Given the description of an element on the screen output the (x, y) to click on. 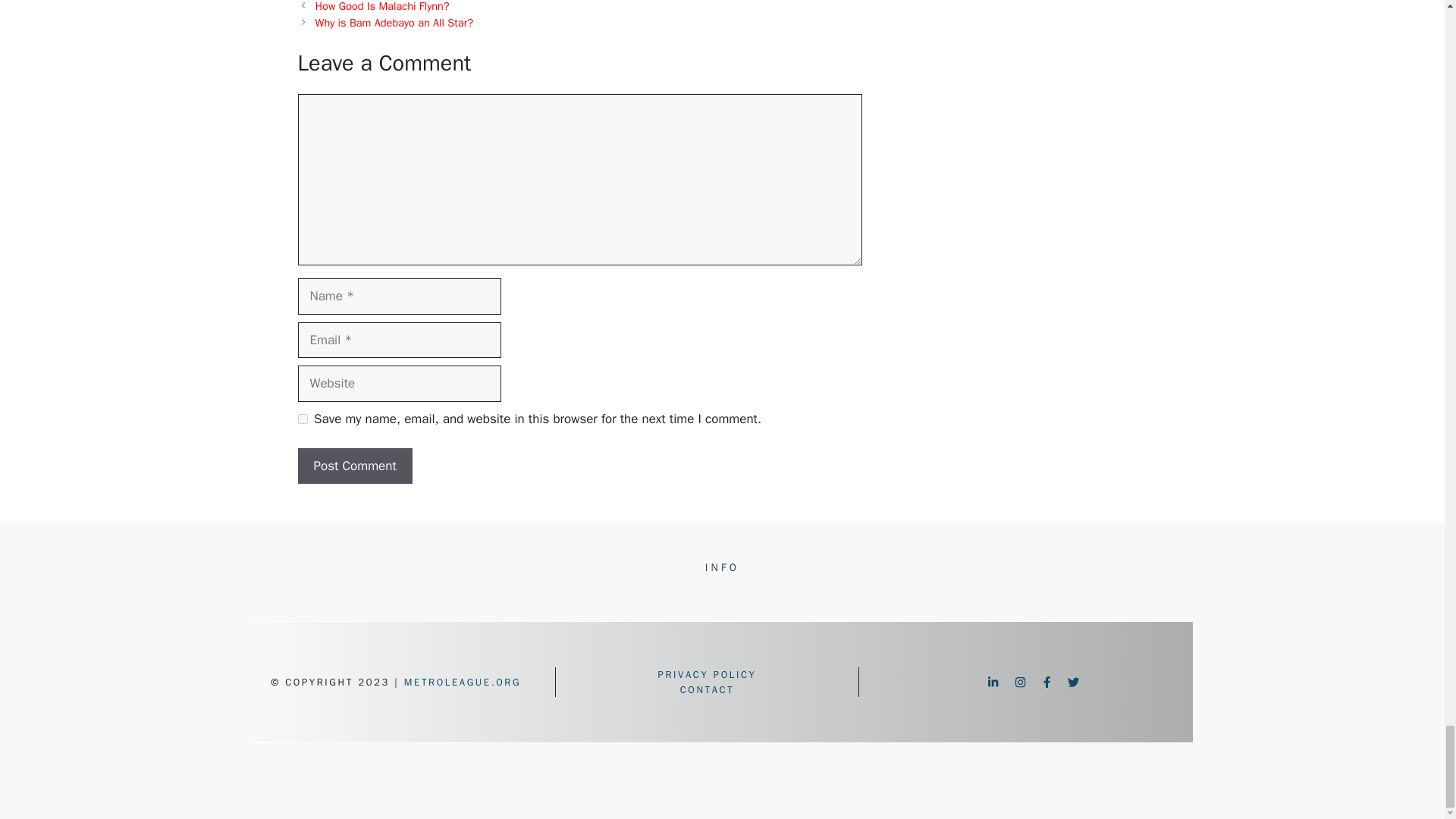
Post Comment (354, 465)
Post Comment (354, 465)
Why is Bam Adebayo an All Star? (394, 22)
yes (302, 419)
How Good Is Malachi Flynn? (382, 6)
